Given the description of an element on the screen output the (x, y) to click on. 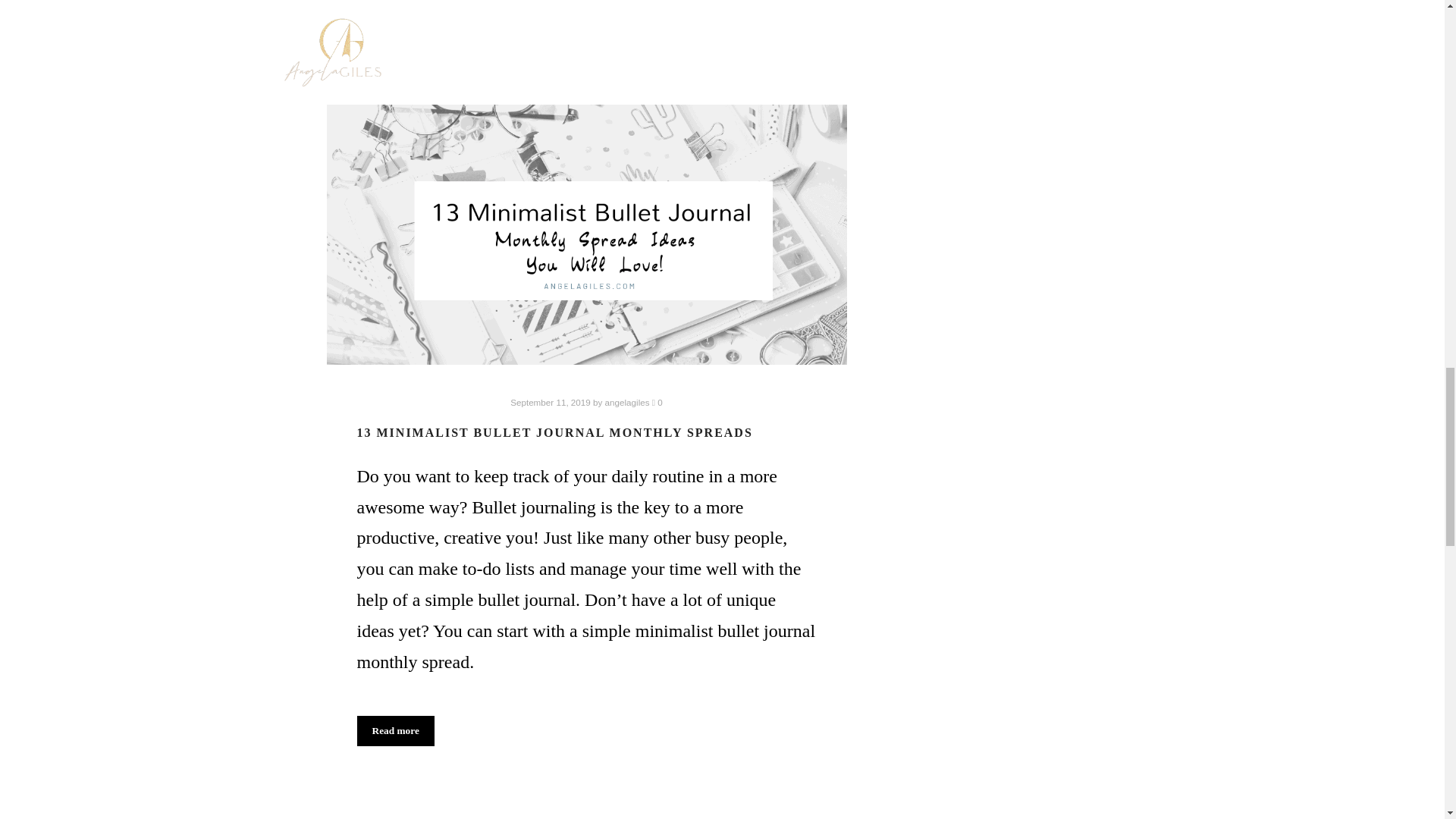
0 (657, 402)
angelagiles (627, 402)
View all posts by angelagiles (627, 402)
Read more (394, 730)
13 MINIMALIST BULLET JOURNAL MONTHLY SPREADS (554, 431)
